Given the description of an element on the screen output the (x, y) to click on. 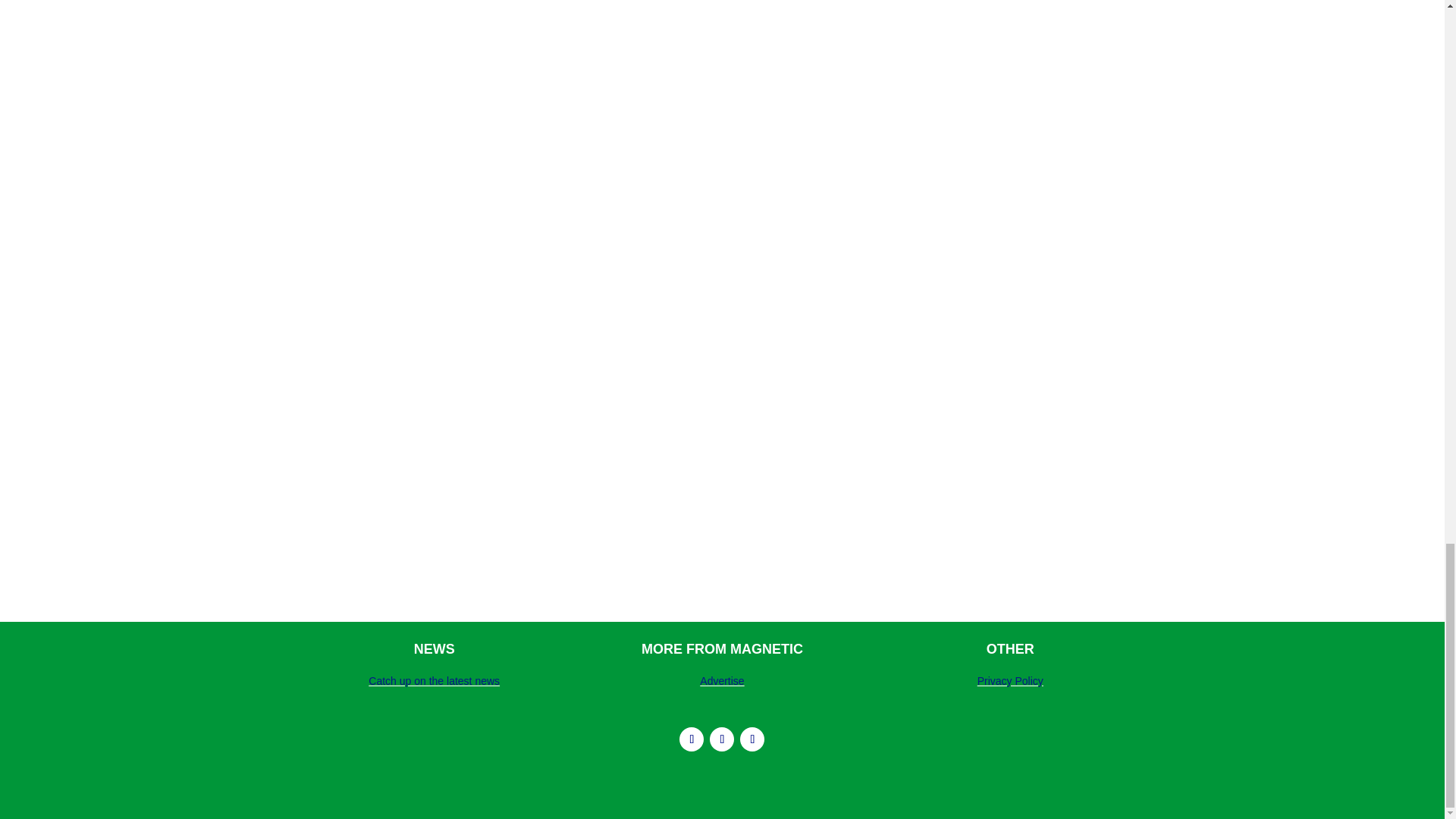
NEWS (433, 648)
Follow on Instagram (691, 739)
Follow on Facebook (751, 739)
Advertise (722, 680)
Follow on LinkedIn (721, 739)
Privacy Policy (1009, 680)
Catch up on the latest news (433, 680)
